Given the description of an element on the screen output the (x, y) to click on. 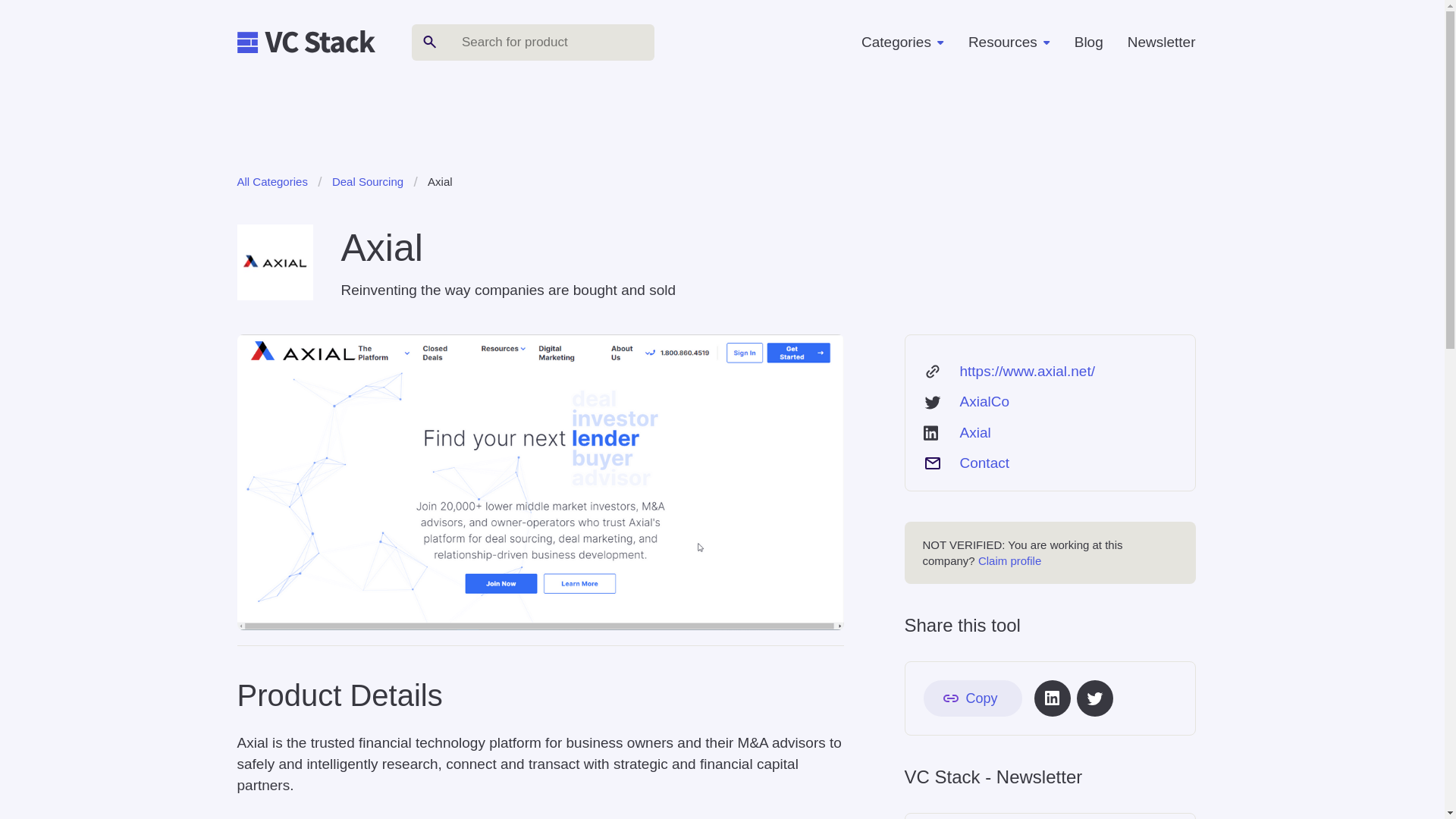
Deal Sourcing (367, 182)
Blog (1088, 42)
Newsletter (1161, 42)
All Categories (271, 182)
